Given the description of an element on the screen output the (x, y) to click on. 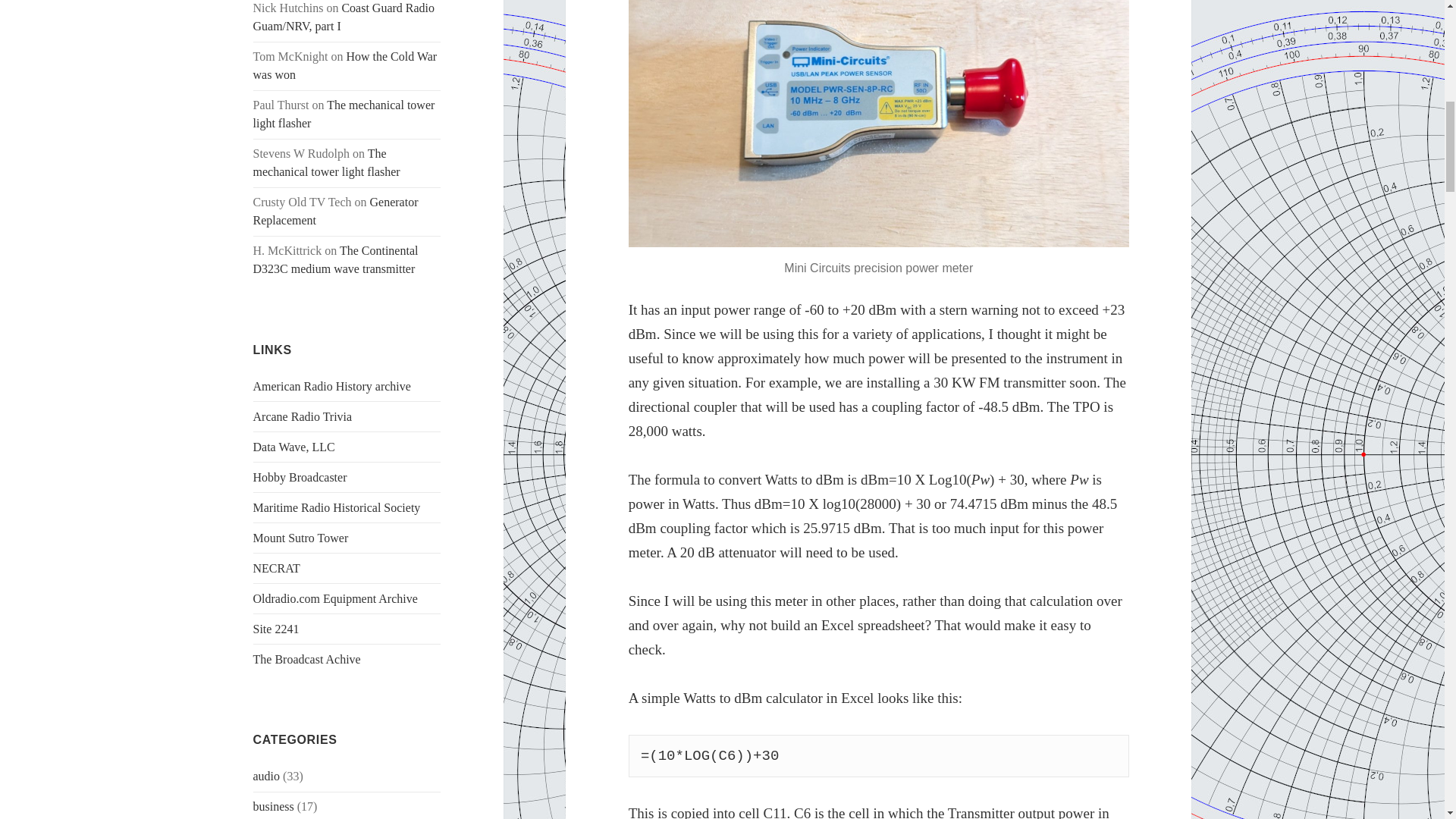
The mechanical tower light flasher (326, 162)
audio (267, 775)
Hobby Broadcaster (300, 477)
How the Cold War was won (345, 65)
Data Wave, LLC (293, 446)
Oldradio.com Equipment Archive (335, 598)
business (273, 806)
Generator Replacement (336, 210)
NECRAT (276, 567)
Maritime Radio Historical Society (336, 507)
Mount Sutro Tower (301, 537)
The mechanical tower light flasher (344, 113)
Arcane Radio Trivia (302, 416)
The Broadcast Achive (307, 658)
Archive of US based radio publications (331, 386)
